Given the description of an element on the screen output the (x, y) to click on. 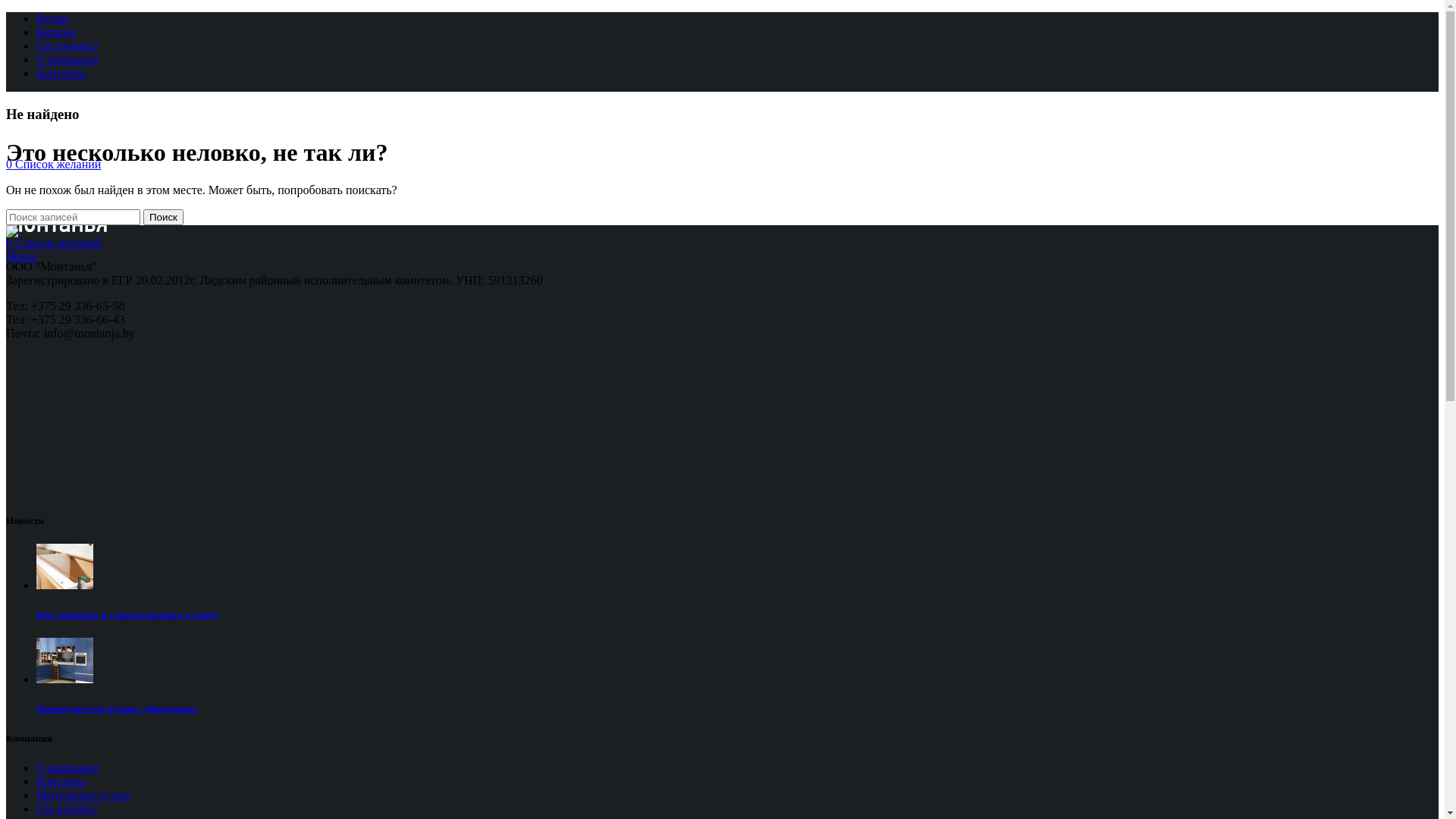
art-3 Element type: hover (64, 566)
art-2 Element type: hover (64, 660)
